Given the description of an element on the screen output the (x, y) to click on. 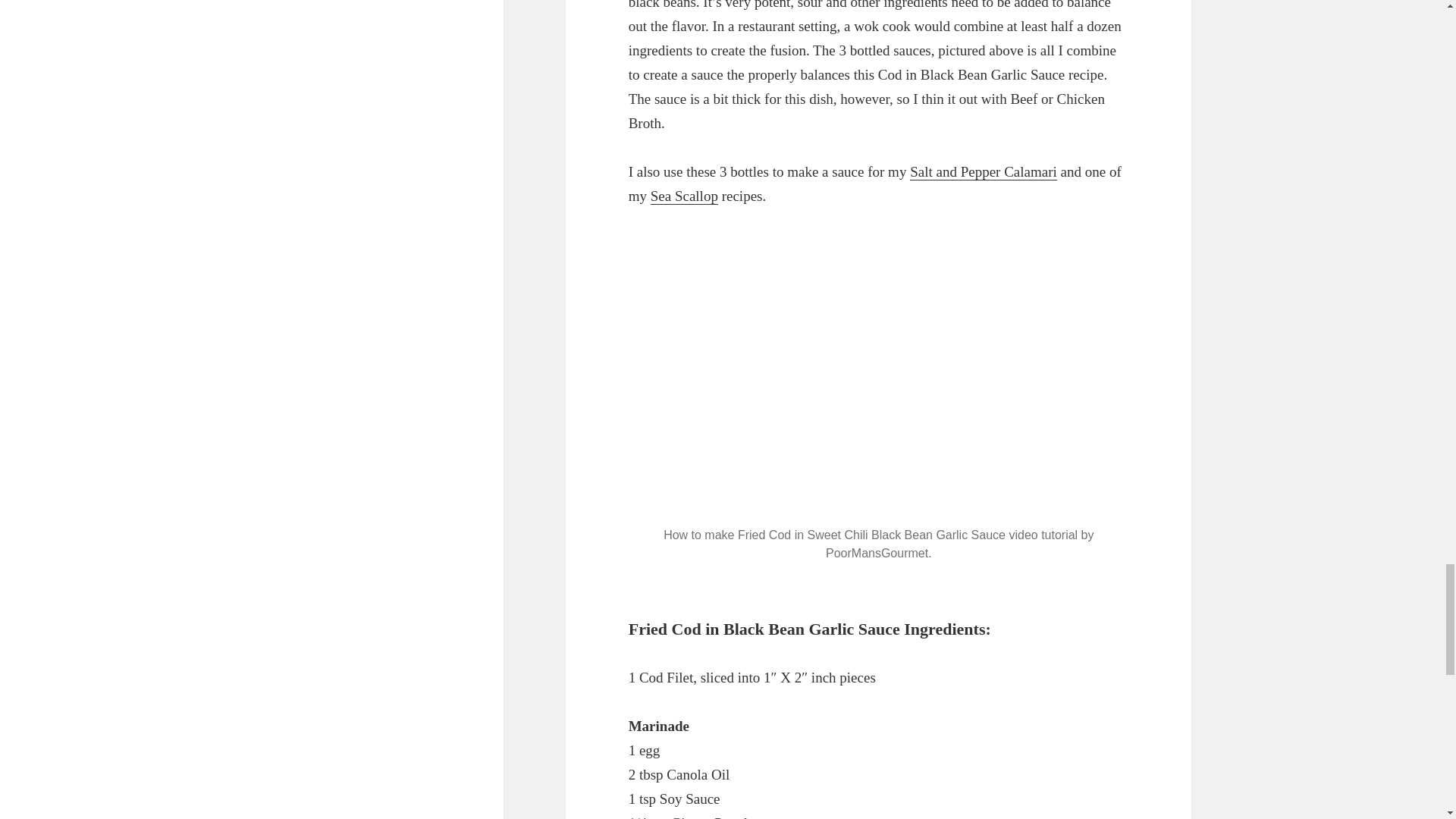
Sea Scallop (683, 196)
Salt and Pepper Calamari (983, 171)
